Given the description of an element on the screen output the (x, y) to click on. 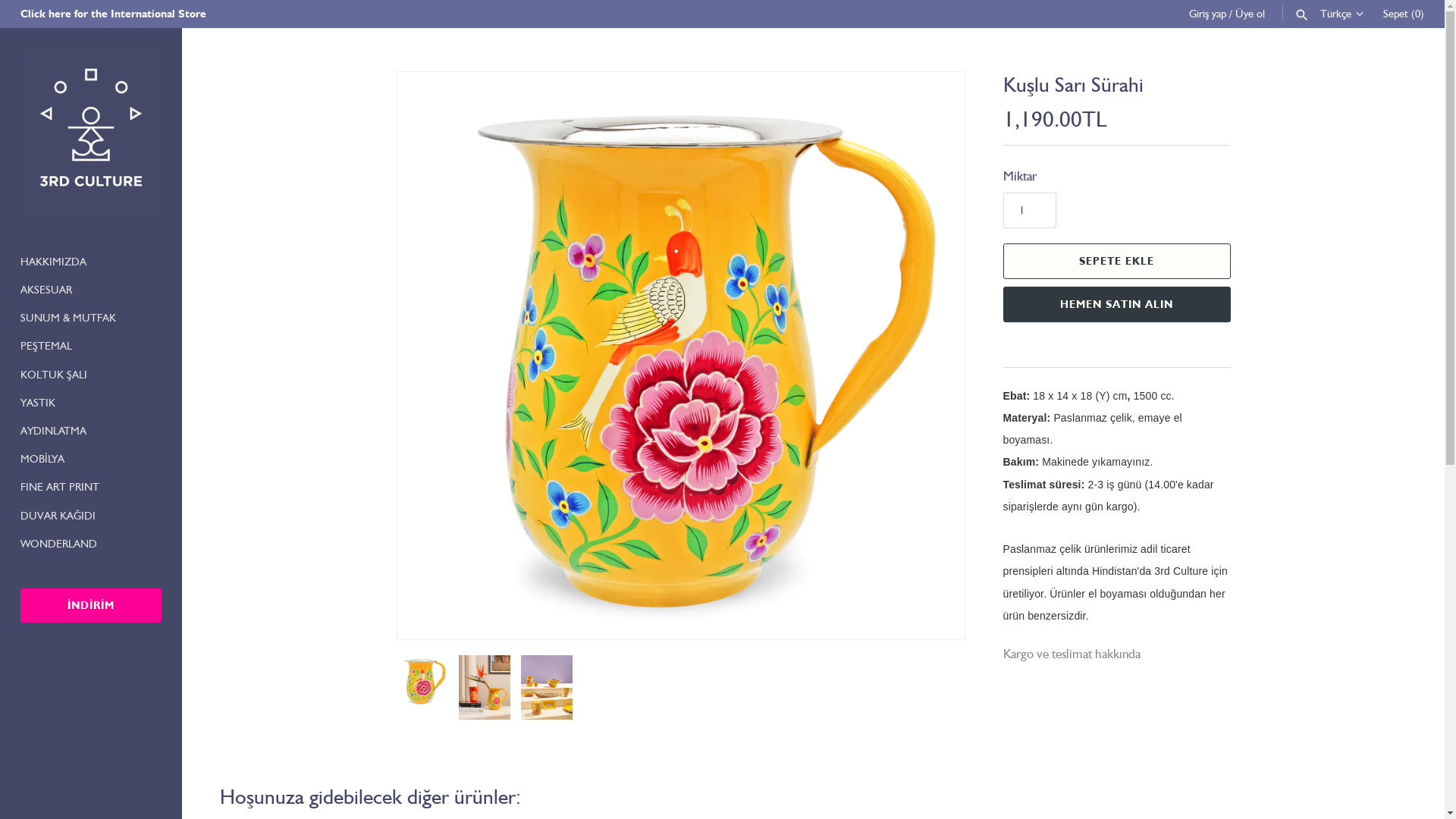
HEMEN SATIN ALIN Element type: text (1116, 304)
FINE ART PRINT Element type: text (90, 487)
WONDERLAND Element type: text (90, 544)
SEPETE EKLE Element type: text (1116, 261)
AYDINLATMA Element type: text (90, 431)
Click here for the International Store Element type: text (113, 13)
HAKKIMIZDA Element type: text (90, 261)
YASTIK Element type: text (90, 403)
SUNUM & MUTFAK Element type: text (90, 318)
Sepet (0) Element type: text (1403, 13)
AKSESUAR Element type: text (90, 290)
3RD CULTURE Element type: hover (91, 130)
